Given the description of an element on the screen output the (x, y) to click on. 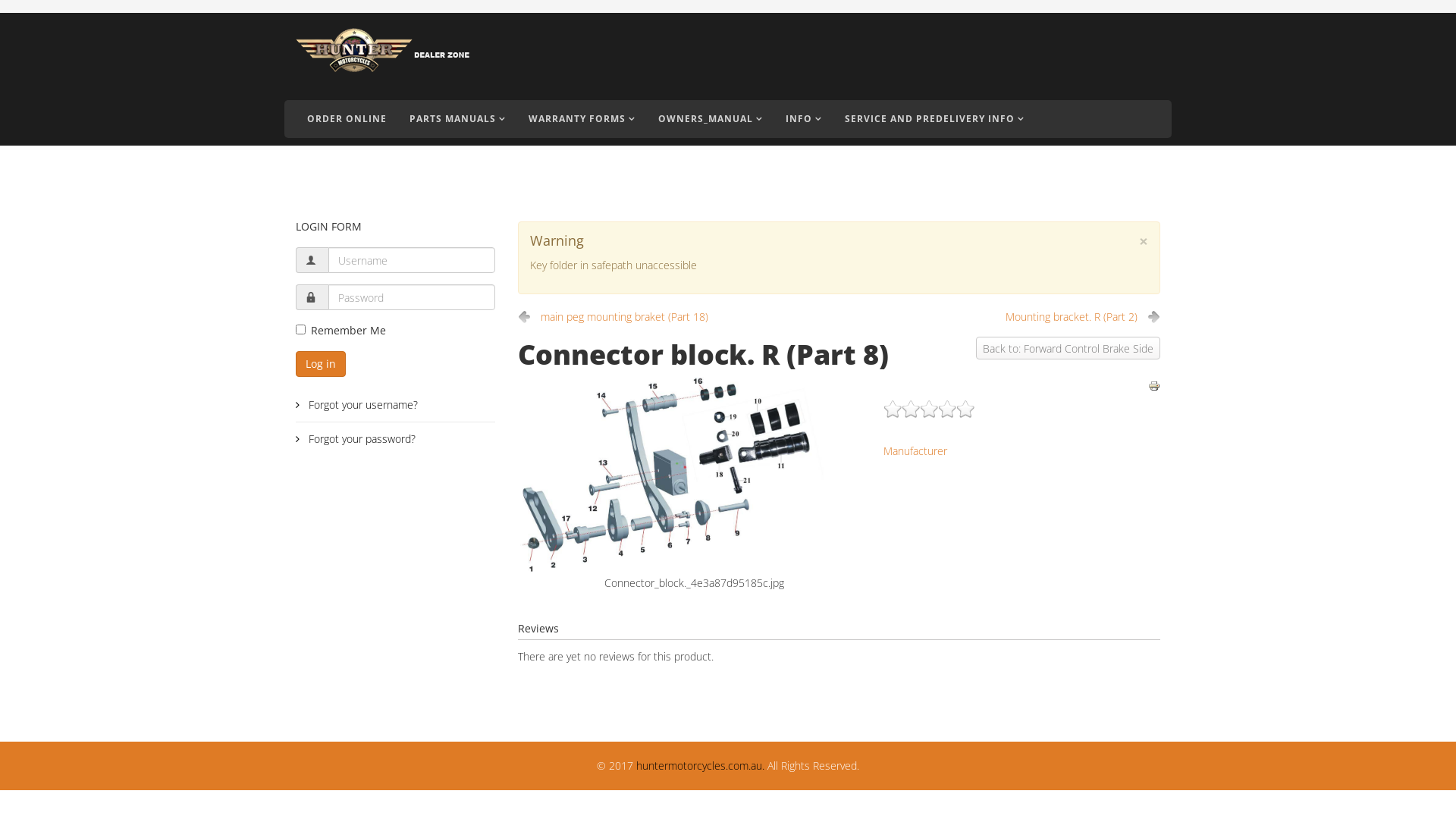
Print Element type: hover (1154, 385)
Mounting bracket. R (Part 2) Element type: text (1082, 316)
Log in Element type: text (320, 363)
OWNERS_MANUAL Element type: text (710, 119)
Username Element type: hover (310, 259)
huntermotorcycles.com.au. Element type: text (700, 765)
Connector_block._4e3a87d95185c.jpg Element type: hover (693, 475)
INFO Element type: text (803, 119)
WARRANTY FORMS Element type: text (581, 119)
Manufacturer Element type: text (915, 450)
PARTS MANUALS Element type: text (457, 119)
main peg mounting braket (Part 18) Element type: text (612, 316)
SERVICE AND PREDELIVERY INFO Element type: text (934, 119)
Back to: Forward Control Brake Side Element type: text (1067, 347)
ORDER ONLINE Element type: text (346, 119)
Not Rated Yet Element type: hover (928, 408)
Forgot your password? Element type: text (395, 438)
Password Element type: hover (310, 296)
Forgot your username? Element type: text (395, 404)
